Given the description of an element on the screen output the (x, y) to click on. 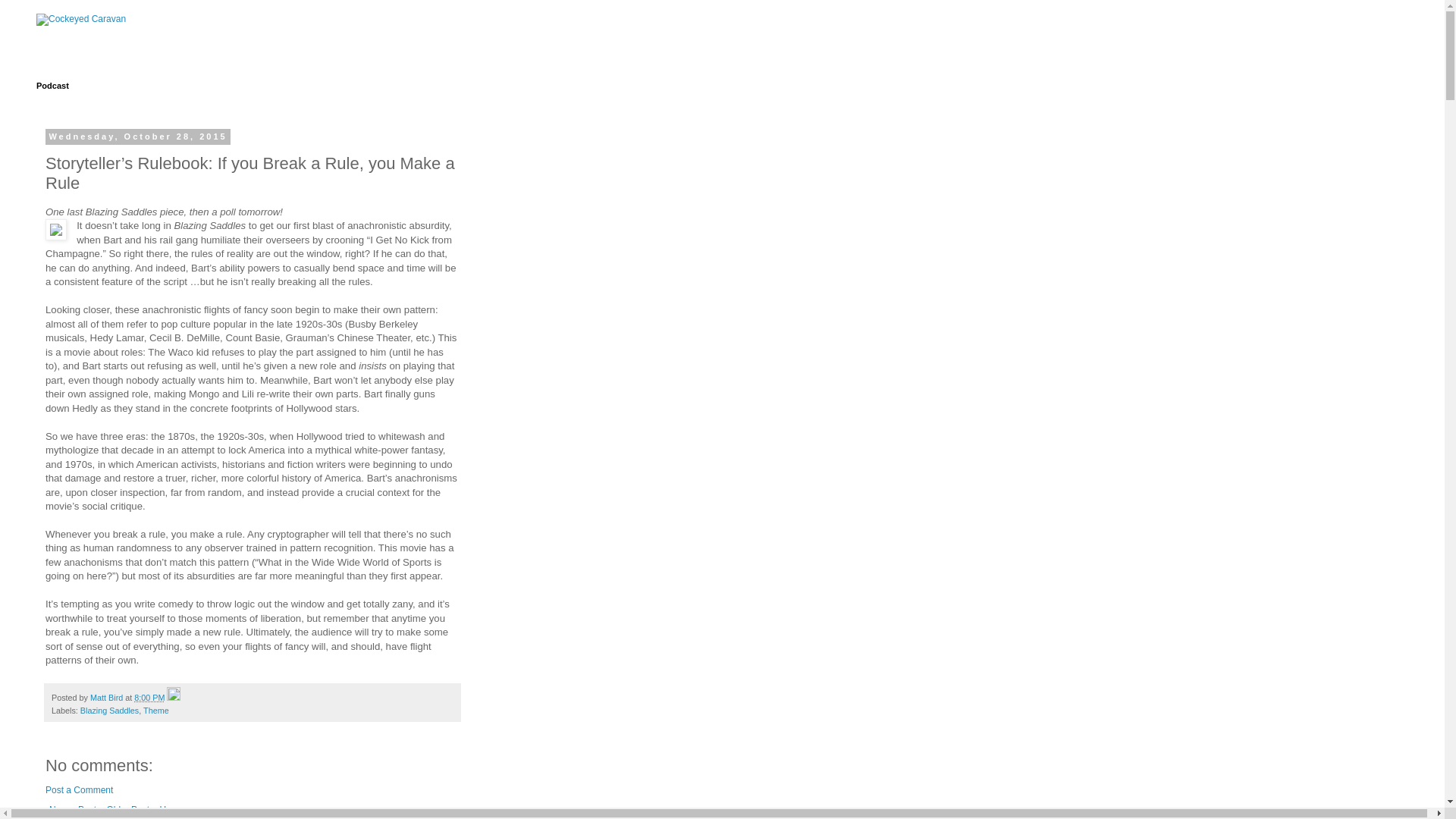
Theme (155, 709)
author profile (107, 696)
8:00 PM (148, 696)
Older Post (126, 809)
Older Post (126, 809)
Edit Post (173, 696)
Newer Post (72, 809)
permanent link (148, 696)
Matt Bird (107, 696)
Blazing Saddles (109, 709)
Newer Post (72, 809)
Post a Comment (79, 789)
Home (171, 809)
